Given the description of an element on the screen output the (x, y) to click on. 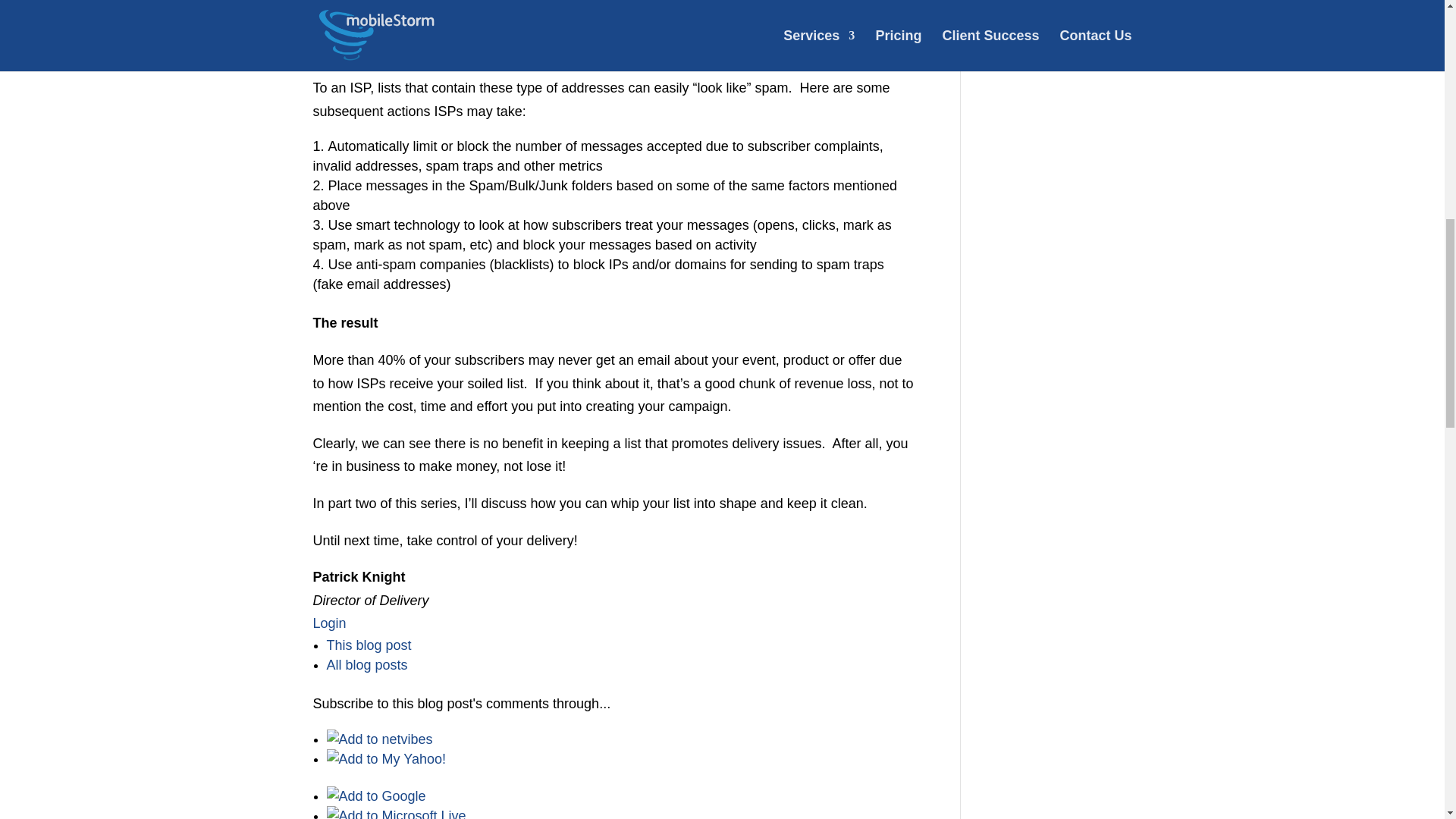
Login (329, 622)
All blog posts (366, 664)
This blog post (368, 645)
